Given the description of an element on the screen output the (x, y) to click on. 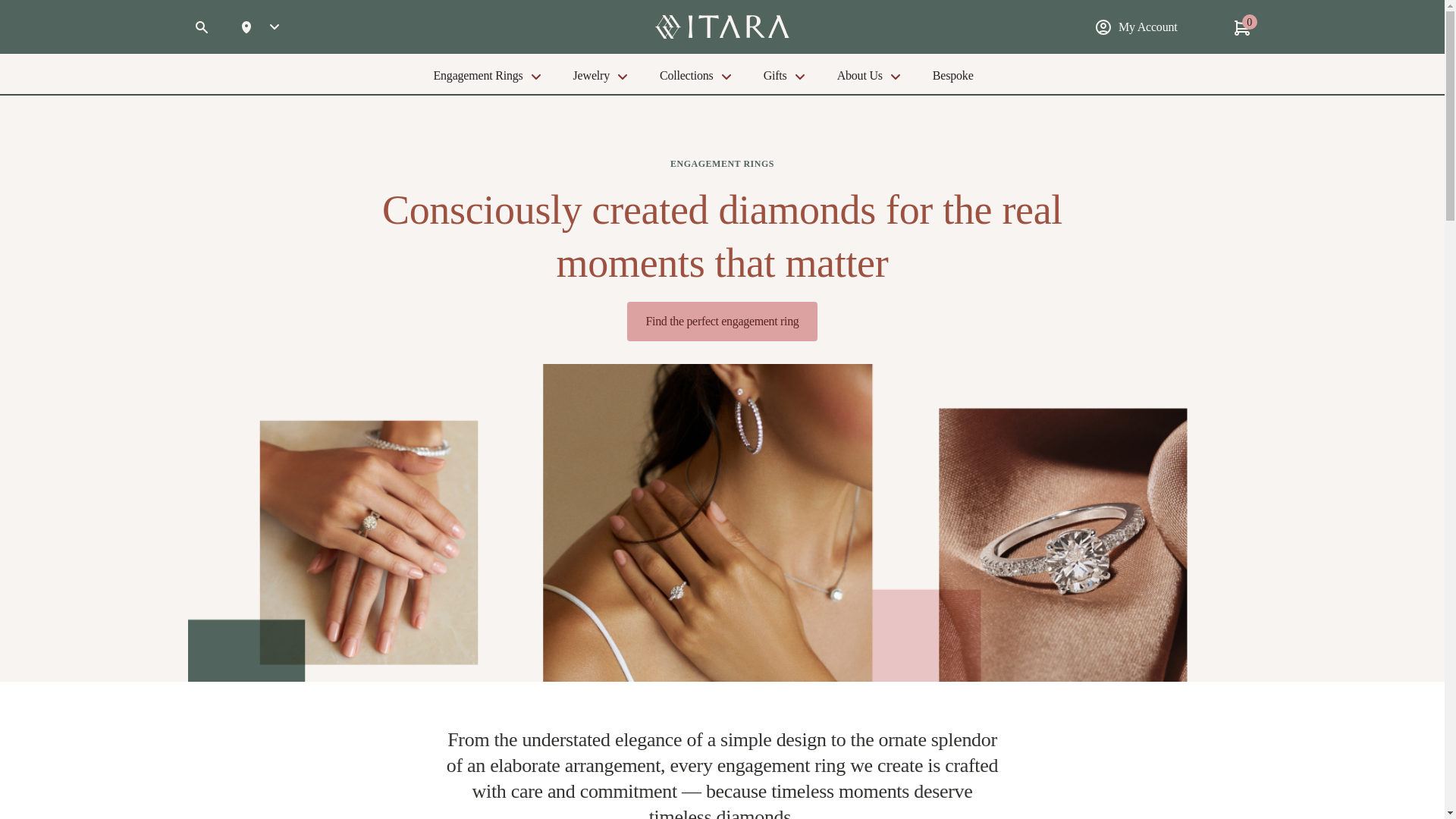
Find the perfect engagement ring (721, 321)
Engagement Rings (477, 75)
Bespoke (952, 75)
My Account (1142, 26)
About Us (859, 75)
Gifts (775, 75)
Jewelry (591, 75)
Collections (686, 75)
